Given the description of an element on the screen output the (x, y) to click on. 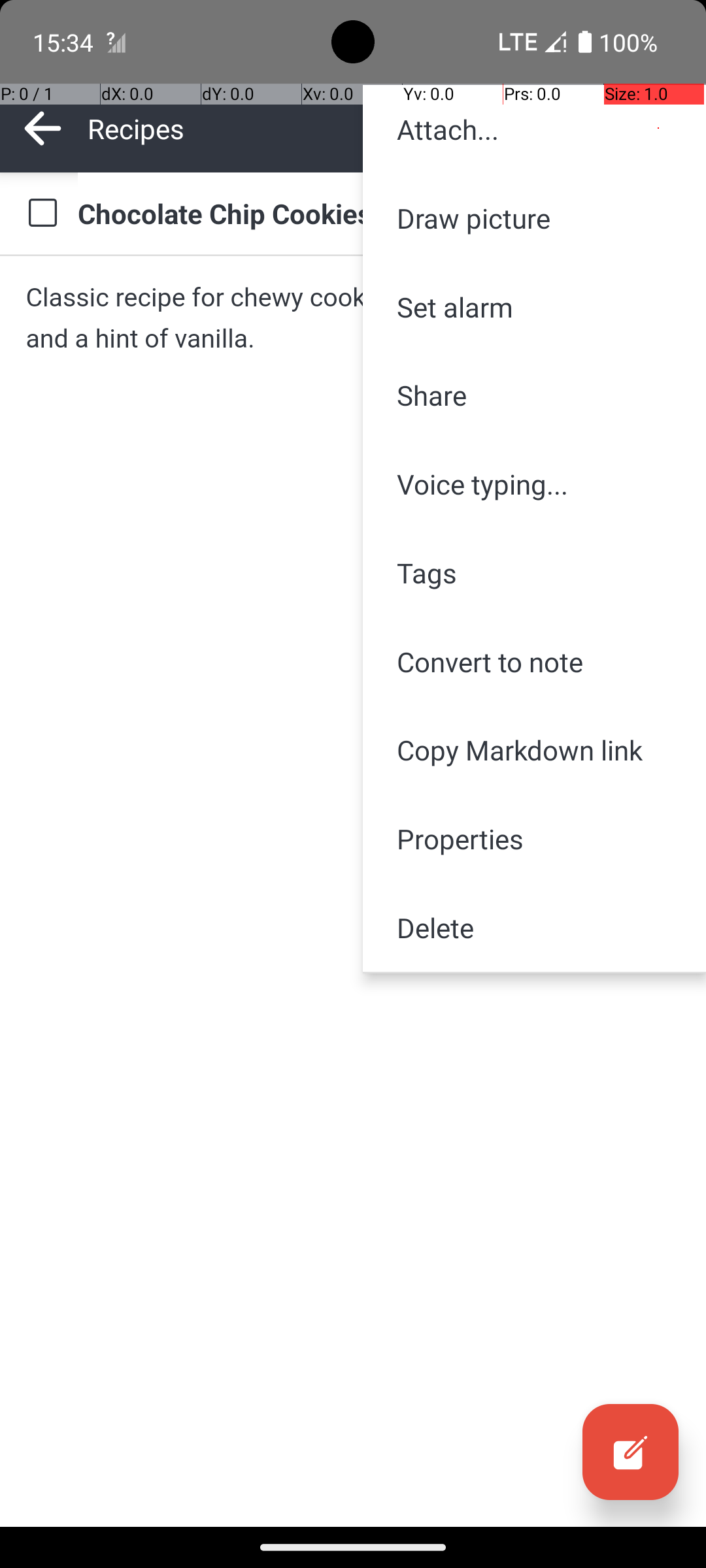
Chocolate Chip Cookies Element type: android.widget.EditText (378, 213)
Attach... Element type: android.widget.TextView (534, 129)
Draw picture Element type: android.widget.TextView (534, 217)
Set alarm Element type: android.widget.TextView (534, 306)
Voice typing... Element type: android.widget.TextView (534, 484)
Convert to note Element type: android.widget.TextView (534, 661)
Copy Markdown link Element type: android.widget.TextView (534, 749)
Classic recipe for chewy cookies with chocolate chips and a hint of vanilla. Element type: android.widget.TextView (352, 317)
